Given the description of an element on the screen output the (x, y) to click on. 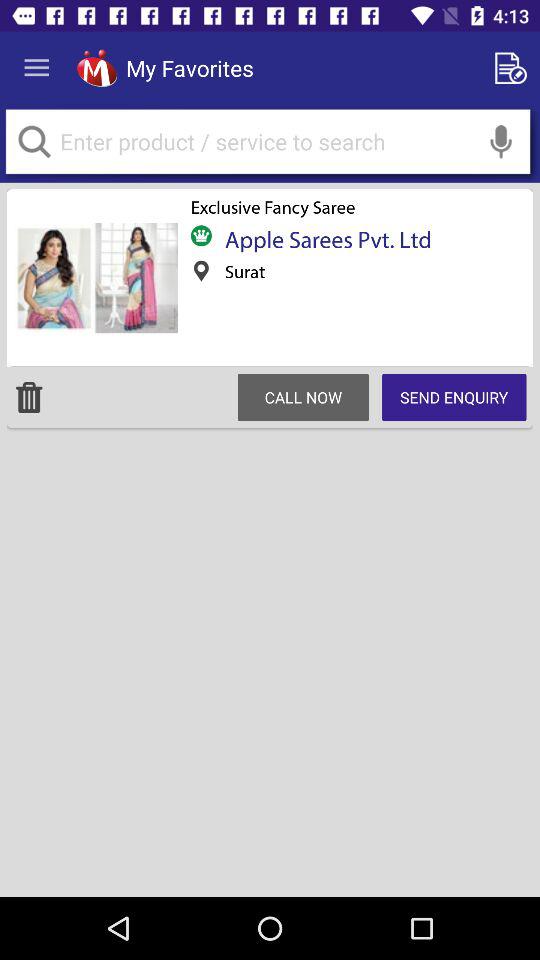
press call now at the center (303, 397)
